Given the description of an element on the screen output the (x, y) to click on. 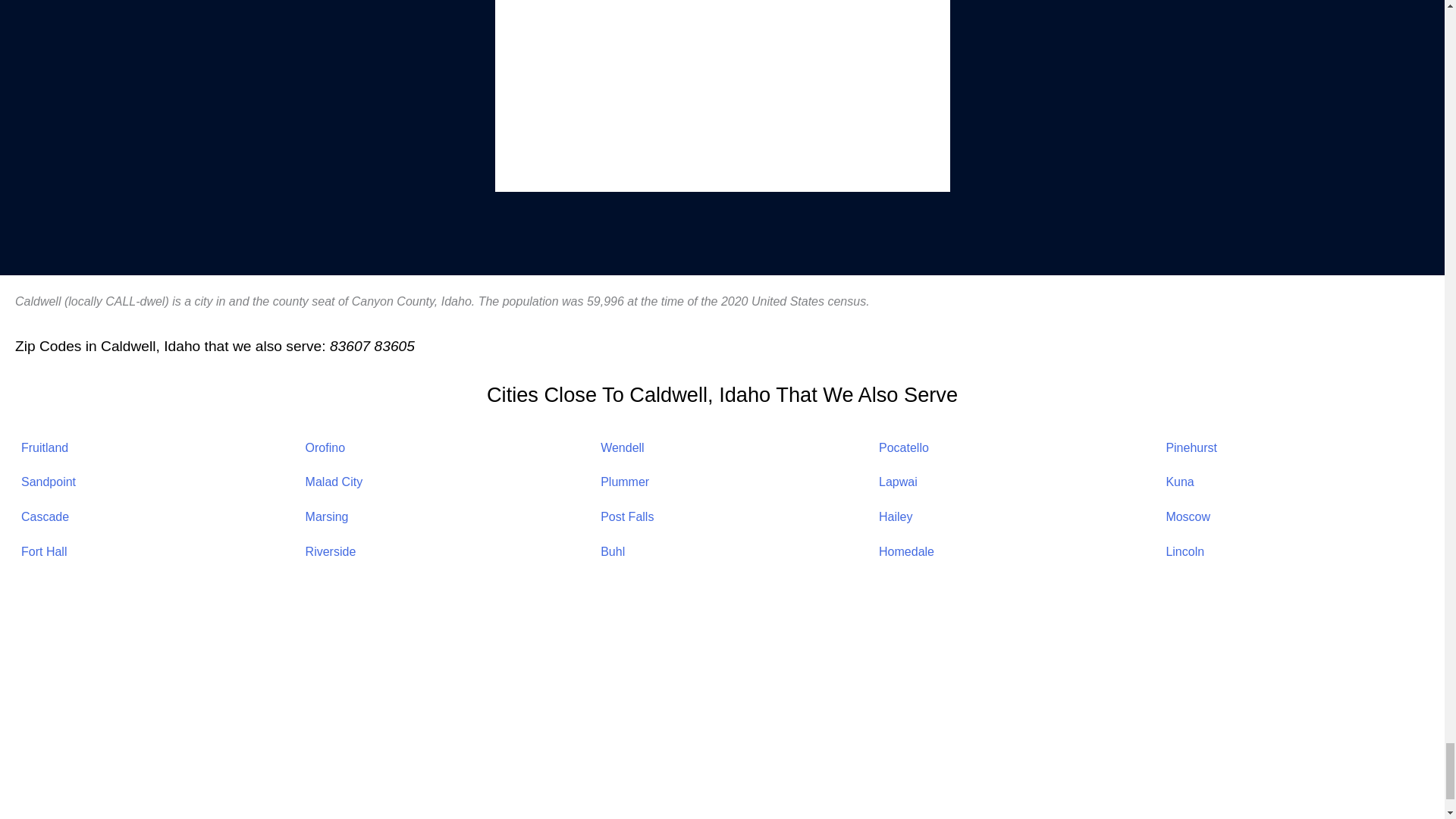
Wendell (622, 447)
Pocatello (903, 447)
Orofino (325, 447)
Fruitland (44, 447)
Plummer (624, 481)
Sandpoint (48, 481)
Pinehurst (1191, 447)
Malad City (333, 481)
